Given the description of an element on the screen output the (x, y) to click on. 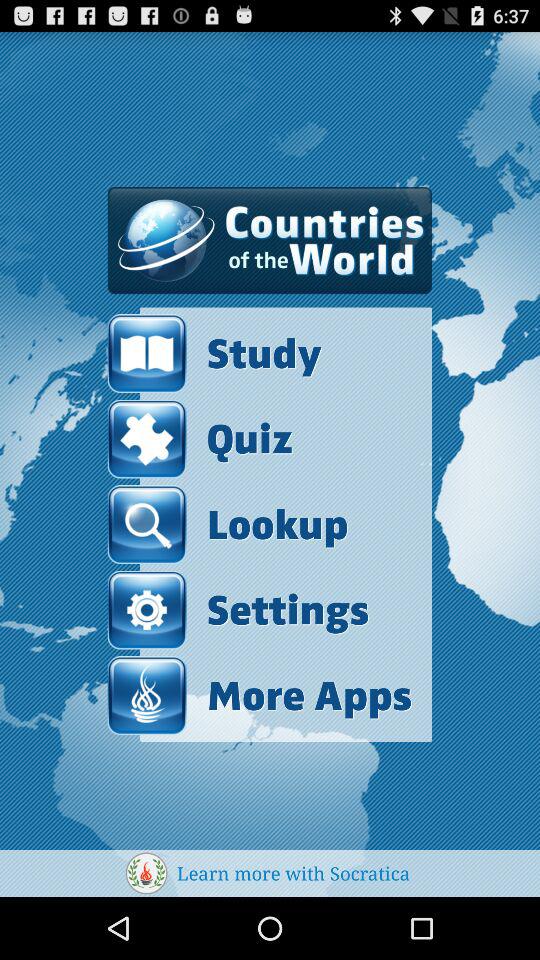
click the more apps item (259, 695)
